Given the description of an element on the screen output the (x, y) to click on. 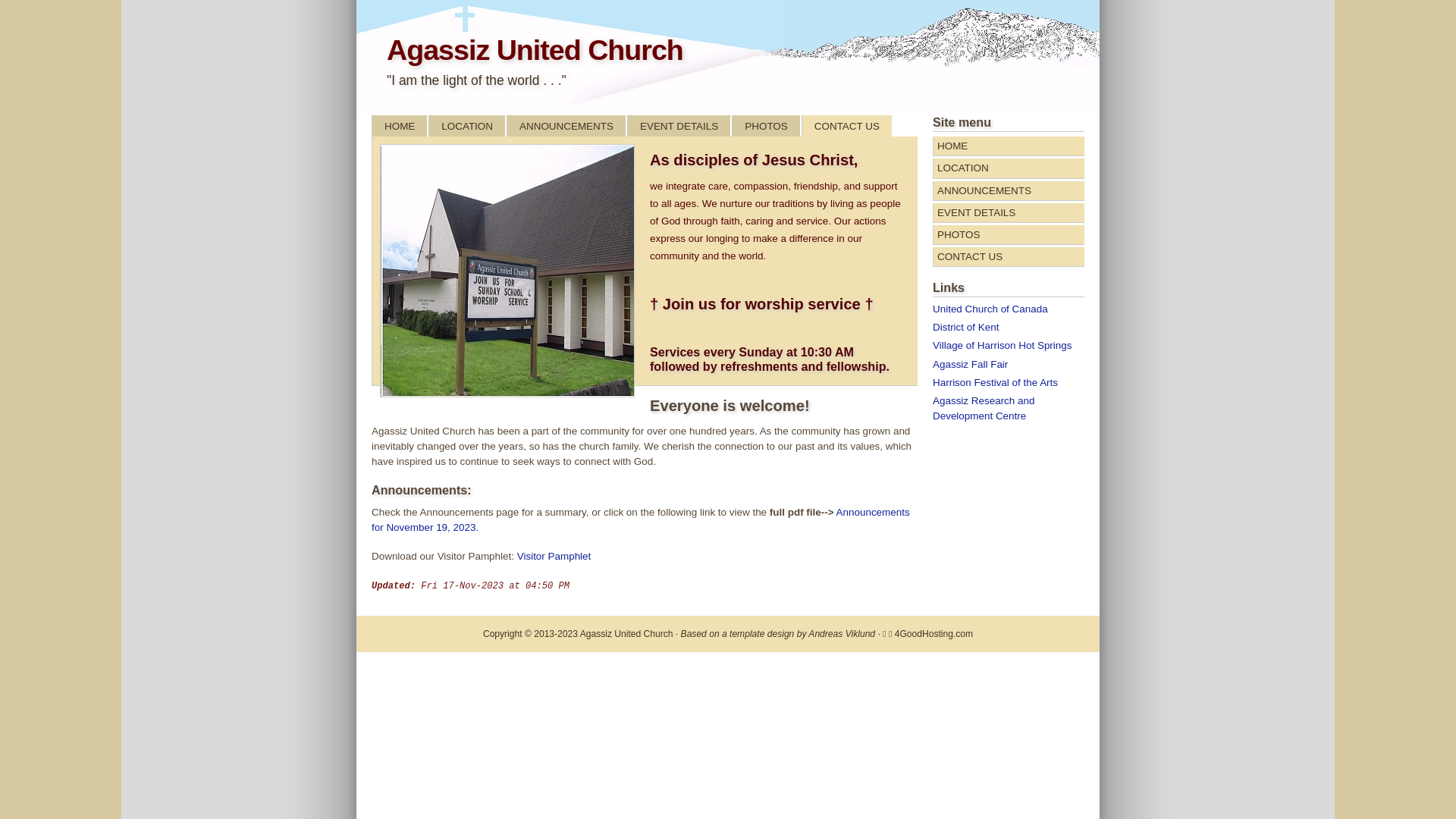
Village of Harrison Hot Springs Element type: text (1002, 345)
District of Kent Element type: text (965, 326)
EVENT DETAILS Element type: text (679, 125)
ANNOUNCEMENTS Element type: text (566, 125)
CONTACT US Element type: text (847, 125)
HOME Element type: text (1008, 146)
United Church of Canada Element type: text (990, 308)
Visitor Pamphlet Element type: text (554, 555)
LOCATION Element type: text (467, 125)
Agassiz Research and Development Centre Element type: text (983, 408)
PHOTOS Element type: text (766, 125)
Agassiz United Church Element type: text (534, 49)
HOME Element type: text (399, 125)
EVENT DETAILS Element type: text (1008, 212)
Harrison Festival of the Arts Element type: text (994, 382)
Agassiz Fall Fair Element type: text (969, 364)
Updated: Fri 17-Nov-2023 at 04:50 PM Element type: text (470, 585)
CONTACT US Element type: text (1008, 256)
LOCATION Element type: text (1008, 168)
Announcements for November 19, 2023. Element type: text (640, 519)
ANNOUNCEMENTS Element type: text (1008, 190)
Andreas Viklund Element type: text (841, 633)
PHOTOS Element type: text (1008, 234)
